Given the description of an element on the screen output the (x, y) to click on. 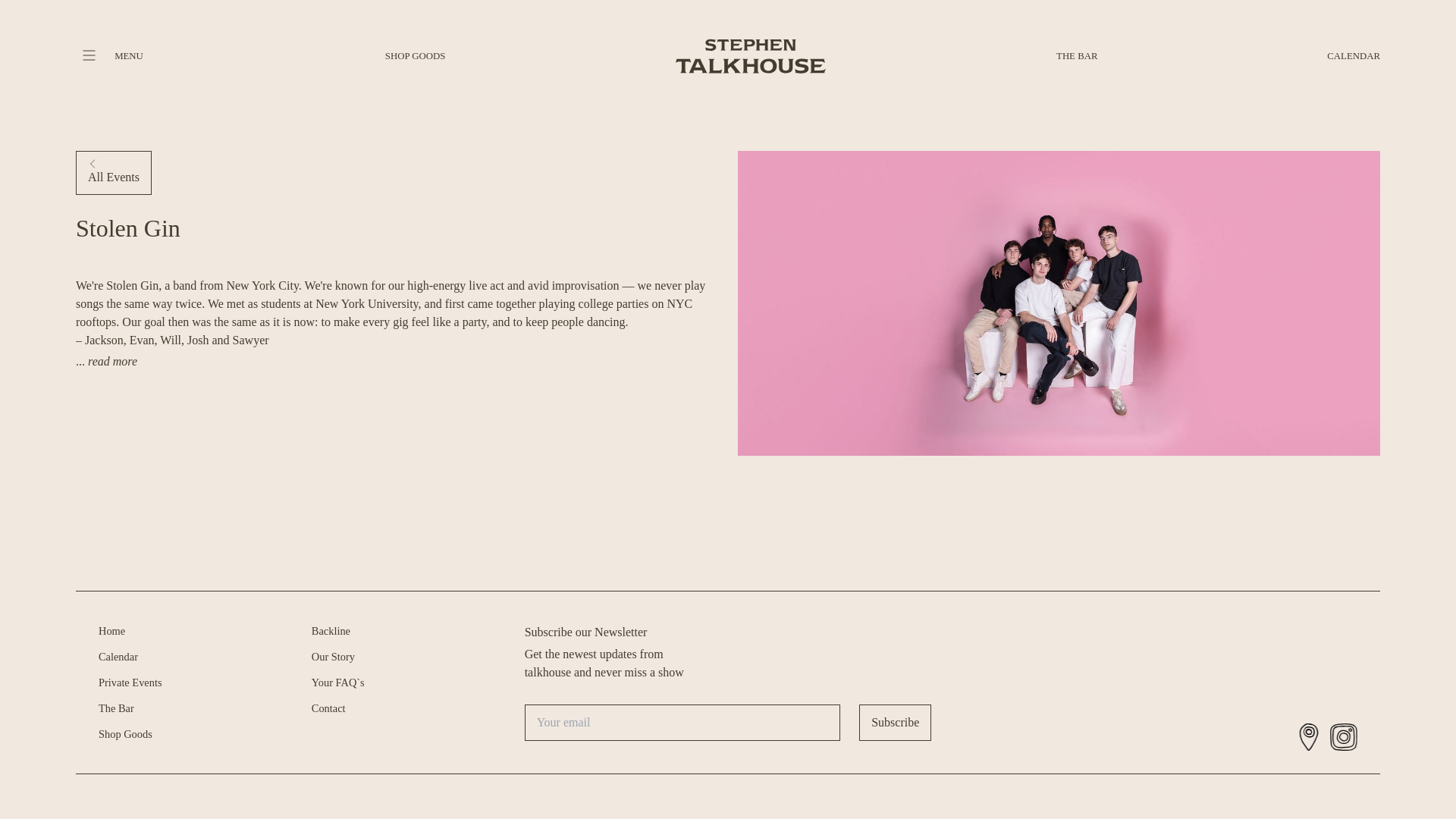
Backline (330, 630)
Contact (328, 707)
MENU (128, 56)
Private Events (130, 682)
SHOP GOODS (415, 56)
The Bar (116, 707)
Our Story (333, 656)
THE BAR (1077, 56)
Calendar (118, 656)
CALENDAR (1353, 56)
Home (112, 630)
All Events (113, 172)
